Given the description of an element on the screen output the (x, y) to click on. 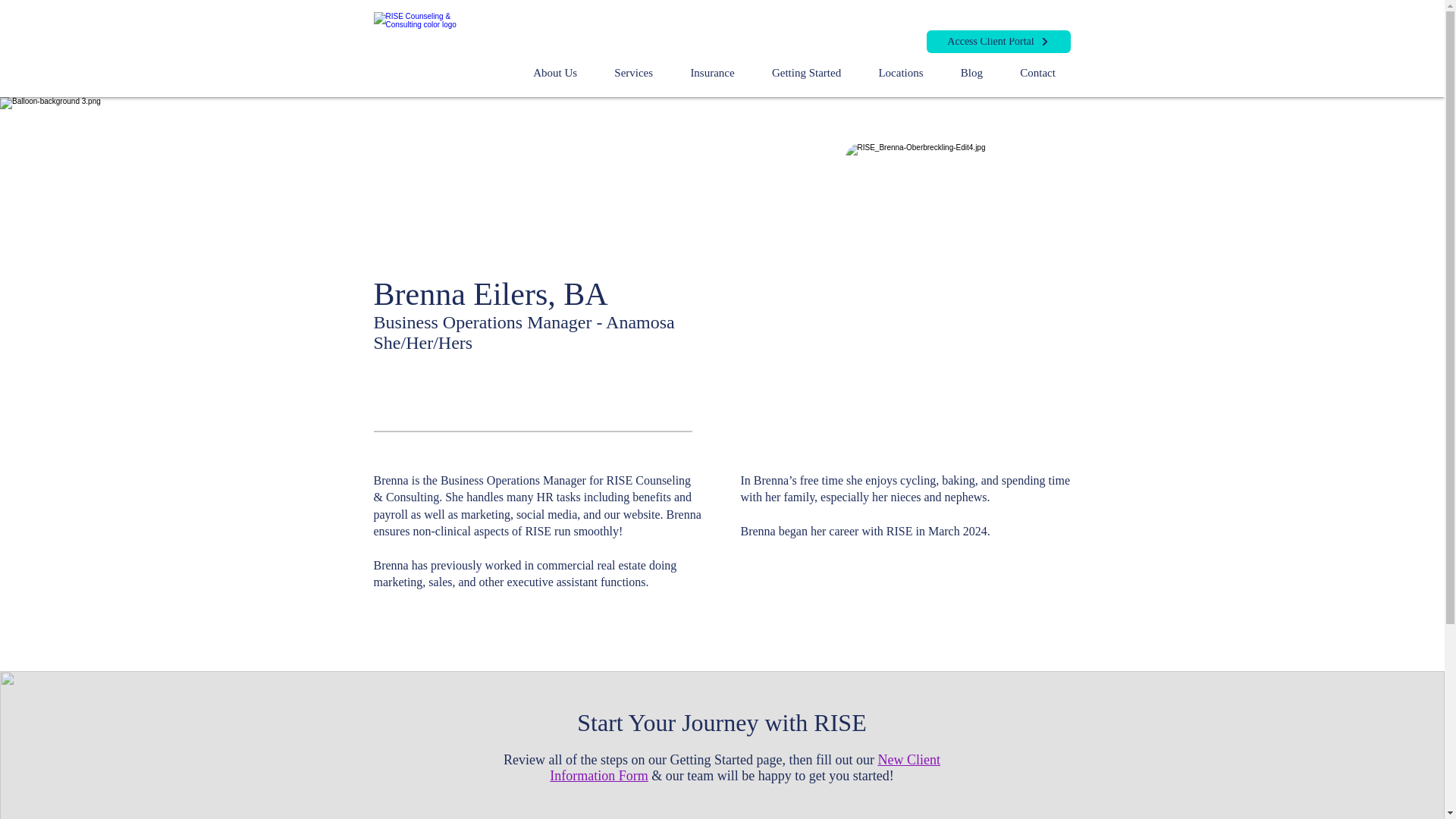
Locations (901, 72)
New Client Information Form (745, 767)
Blog (970, 72)
Contact (1037, 72)
About Us (554, 72)
Access Client Portal (998, 41)
Insurance (713, 72)
Getting Started (805, 72)
